Given the description of an element on the screen output the (x, y) to click on. 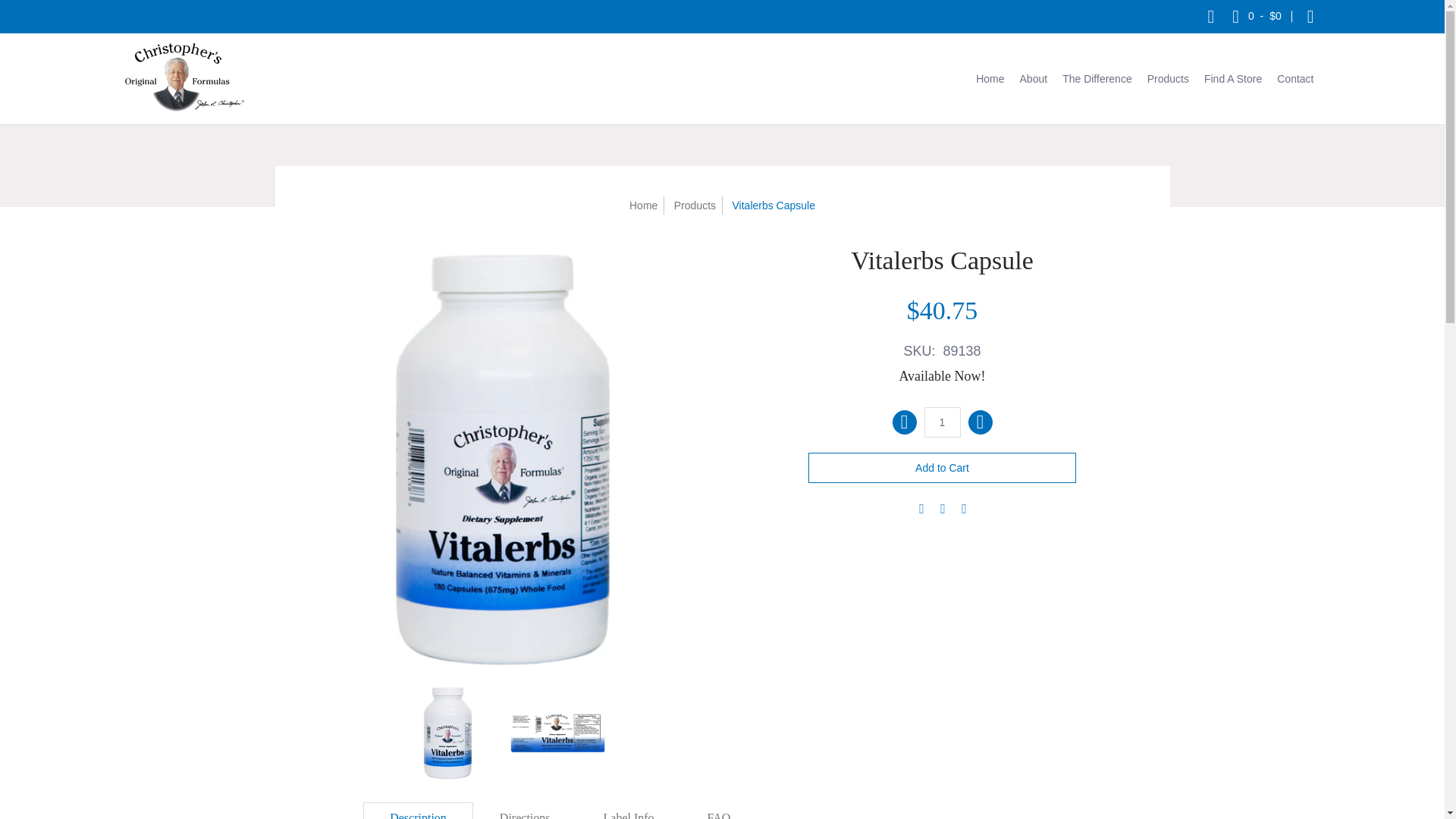
1 (941, 422)
Add to Cart (941, 467)
The Difference (1097, 78)
The Difference (1097, 78)
christophersoriginalformulas (183, 78)
Products (695, 205)
Home (643, 205)
Cart (1256, 16)
Log in (1310, 16)
